Given the description of an element on the screen output the (x, y) to click on. 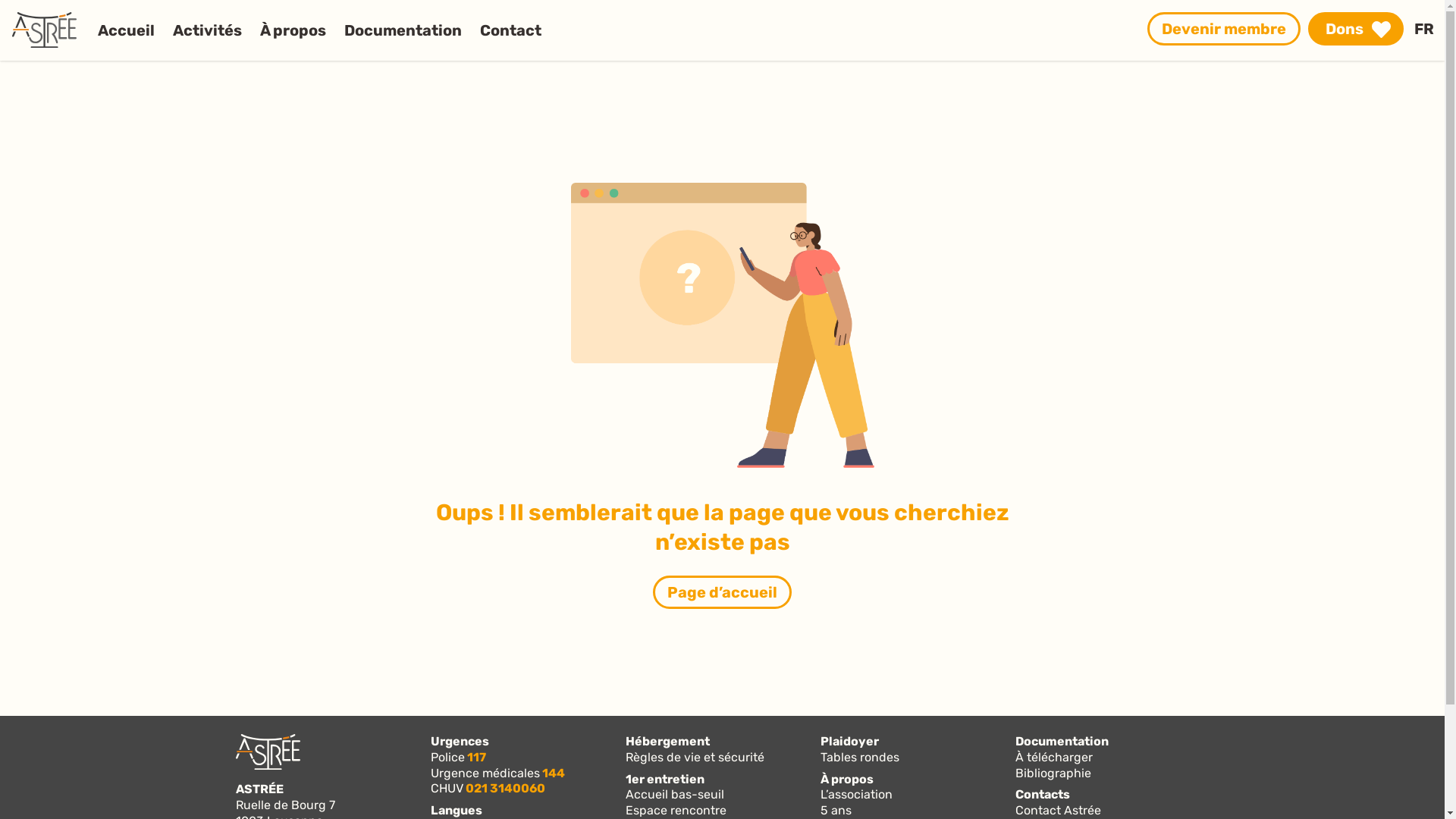
Contact Element type: text (510, 30)
Dons Element type: text (1355, 28)
Documentation Element type: text (402, 30)
FR Element type: text (1424, 28)
Accueil Element type: text (125, 30)
Accueil bas-seuil Element type: text (721, 795)
Bibliographie Element type: text (1111, 773)
Devenir membre Element type: text (1223, 28)
Tables rondes Element type: text (916, 757)
